Given the description of an element on the screen output the (x, y) to click on. 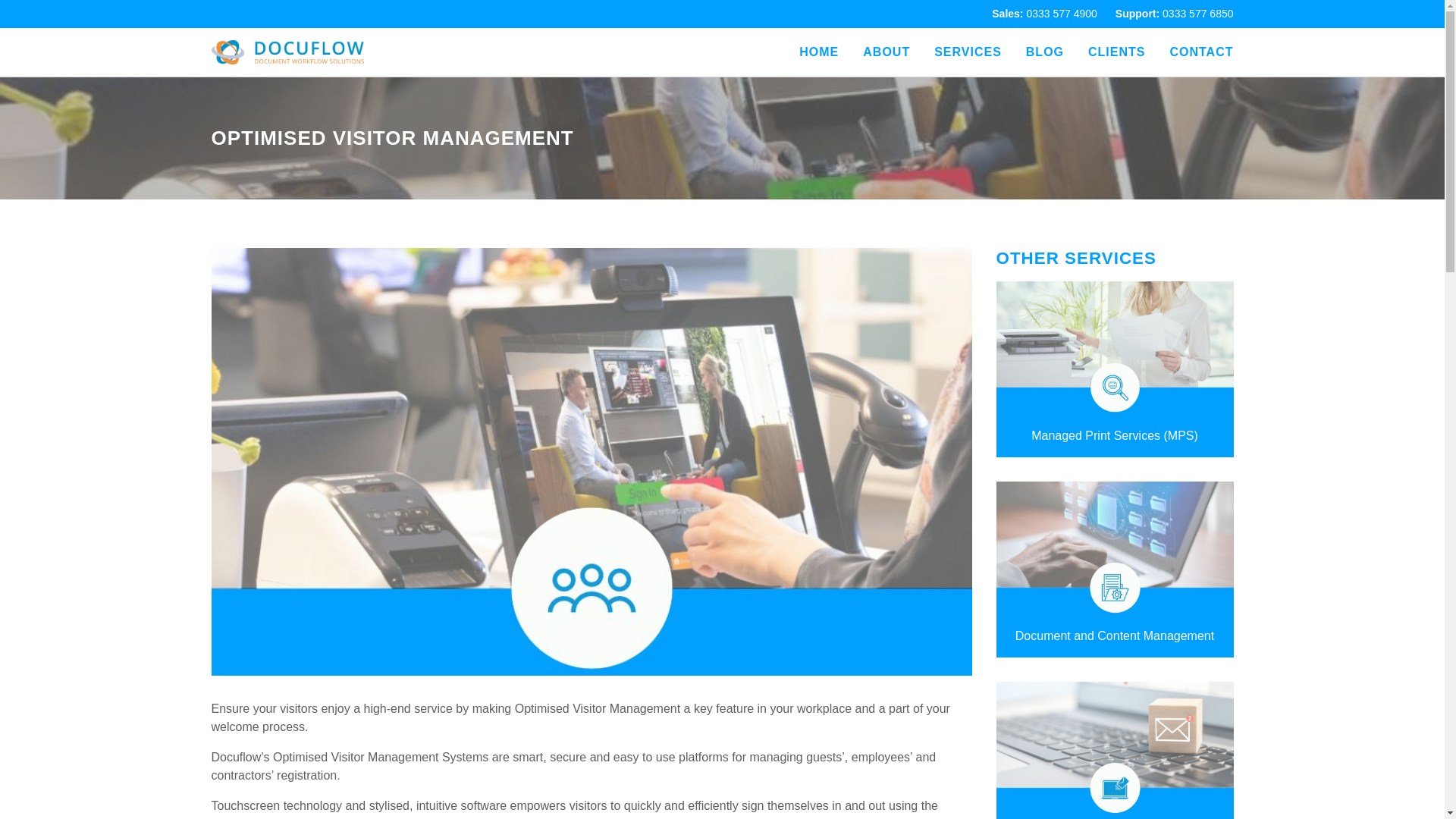
Postal Solutions (1114, 750)
SERVICES (967, 52)
0333 577 6850 (1197, 13)
HOME (818, 52)
BLOG (1045, 52)
CONTACT (1201, 52)
ABOUT (886, 52)
CLIENTS (1115, 52)
0333 577 4900 (1061, 13)
Document and Content Management (1114, 569)
